Given the description of an element on the screen output the (x, y) to click on. 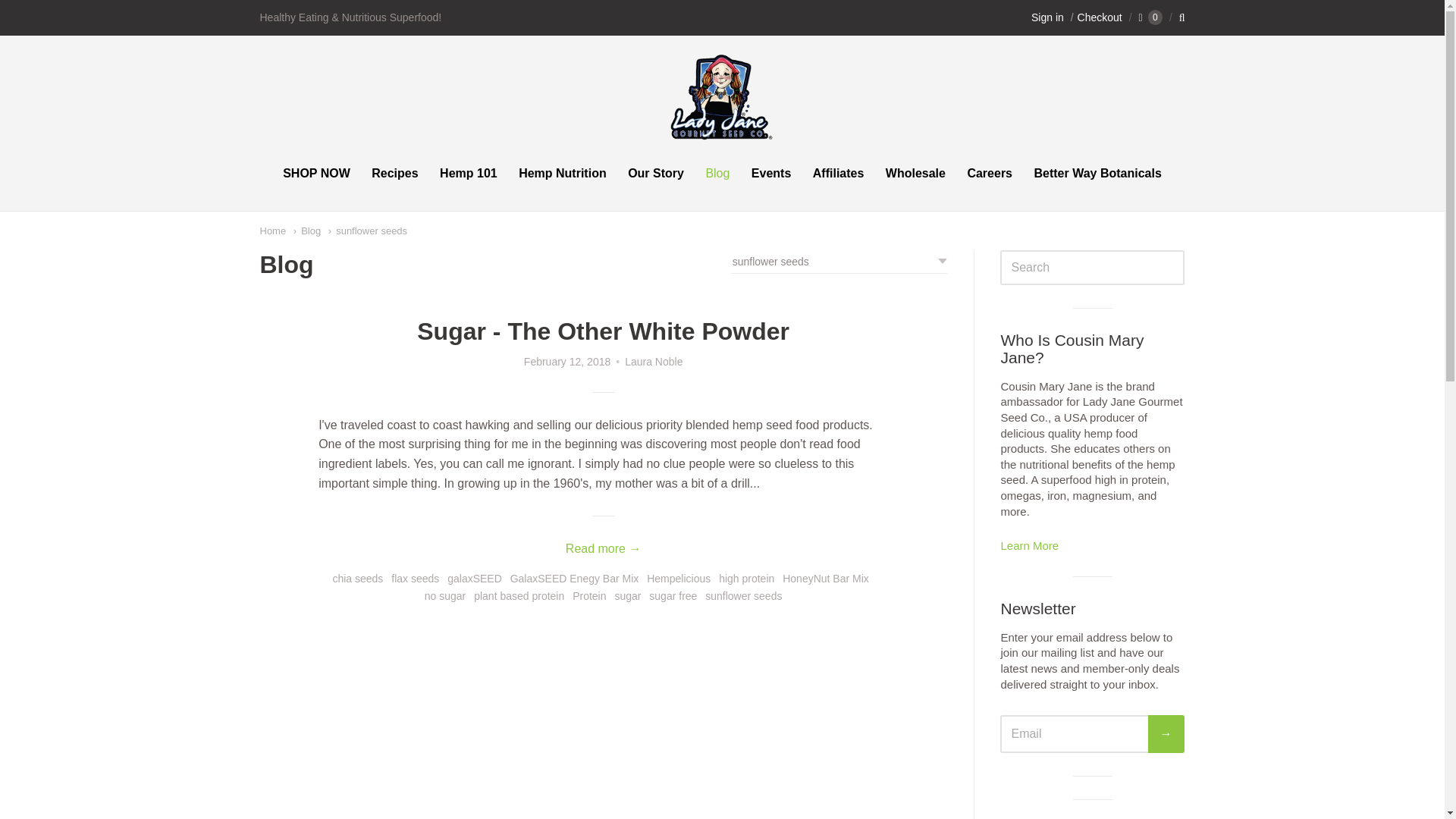
high protein (746, 579)
Careers (990, 173)
Home (272, 229)
SHOP NOW (316, 173)
plant based protein (519, 596)
Affiliates (838, 173)
Show articles tagged sugar free (673, 596)
Better Way Botanicals (1097, 173)
Show articles tagged GalaxSEED Enegy Bar Mix (575, 579)
Show articles tagged galaxSEED (474, 579)
Checkout (1094, 17)
Recipes (394, 173)
Hempelicious (678, 579)
Show articles tagged flax seeds (415, 579)
sunflower seeds (368, 229)
